Given the description of an element on the screen output the (x, y) to click on. 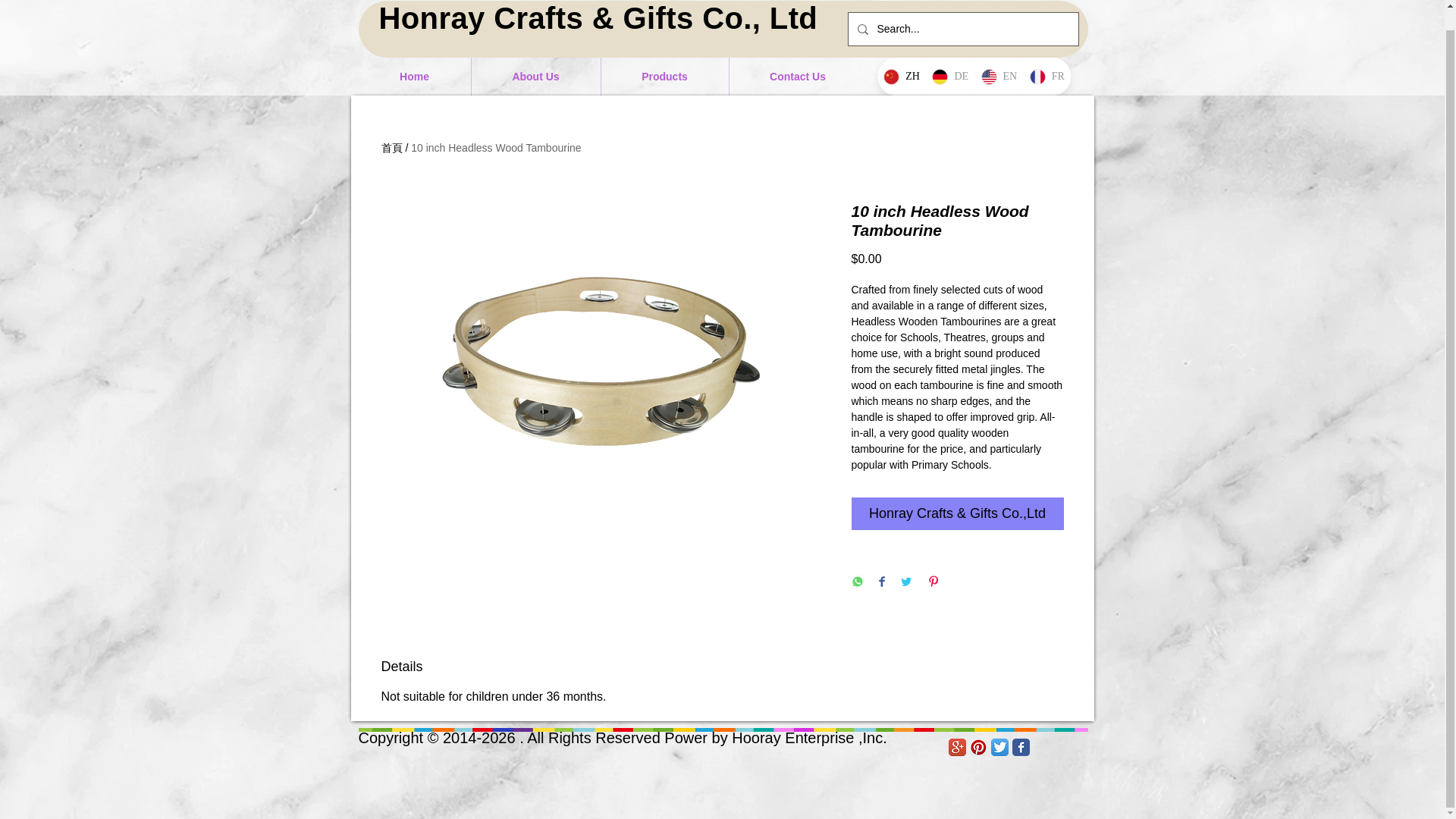
Home (414, 76)
About Us (535, 76)
DE (950, 76)
10 inch Headless Wood Tambourine (495, 147)
ZH (901, 76)
FR (1046, 76)
EN (998, 76)
Products (663, 76)
Contact Us (797, 76)
